Given the description of an element on the screen output the (x, y) to click on. 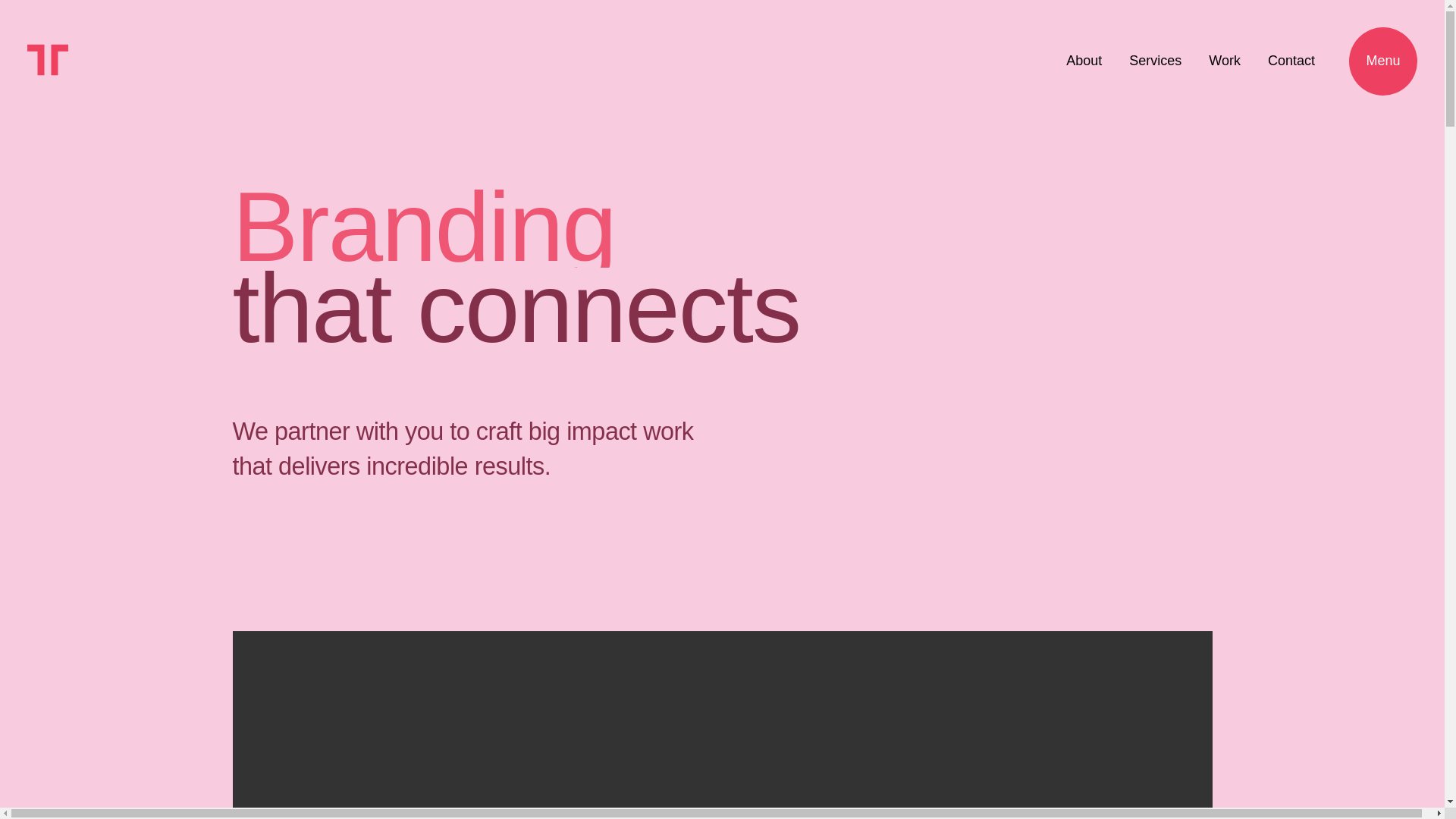
About (1083, 60)
Contact (1224, 60)
Services (1291, 60)
